Given the description of an element on the screen output the (x, y) to click on. 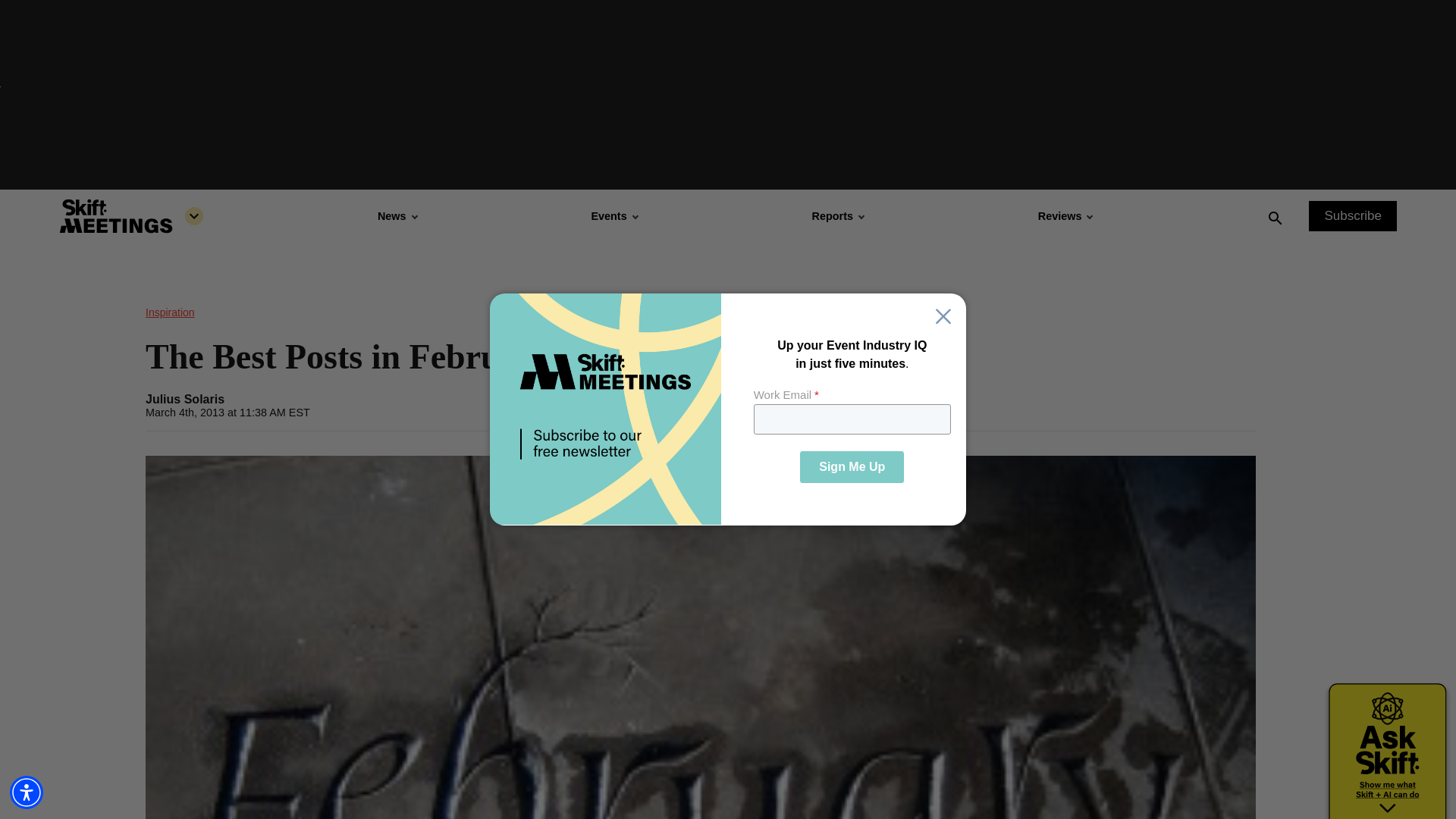
Subscribe (1352, 215)
Accessibility Menu (26, 792)
Reports (837, 215)
Popup CTA (727, 409)
Reviews (1065, 215)
